Given the description of an element on the screen output the (x, y) to click on. 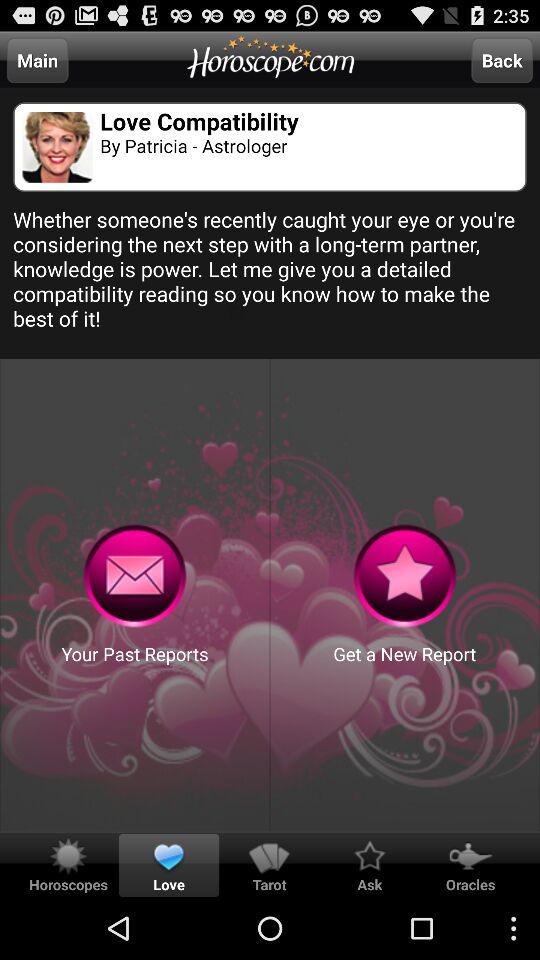
get a new report (404, 575)
